Given the description of an element on the screen output the (x, y) to click on. 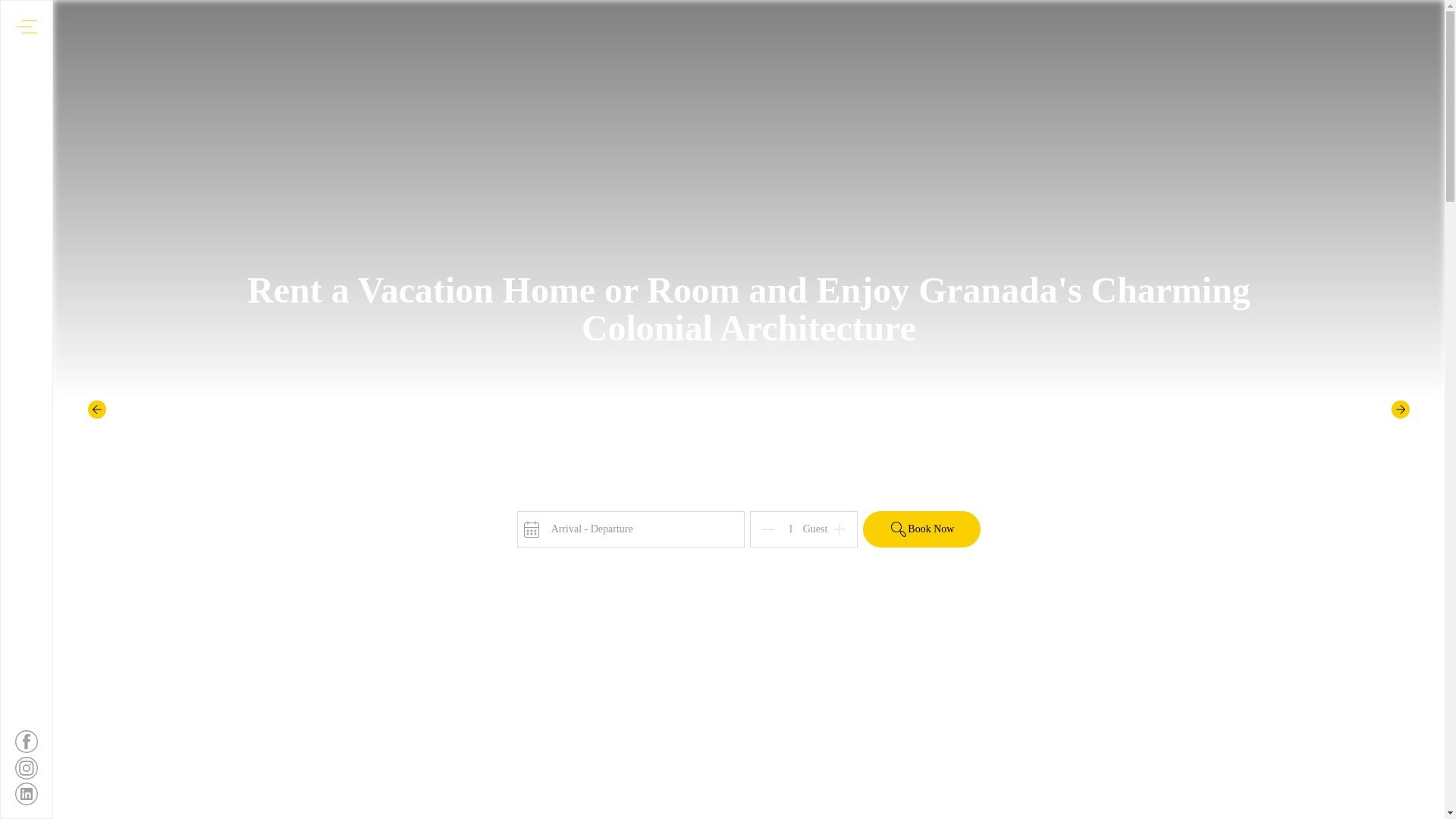
Book Now (921, 529)
1 (791, 529)
Arrival - Departure (630, 529)
